Given the description of an element on the screen output the (x, y) to click on. 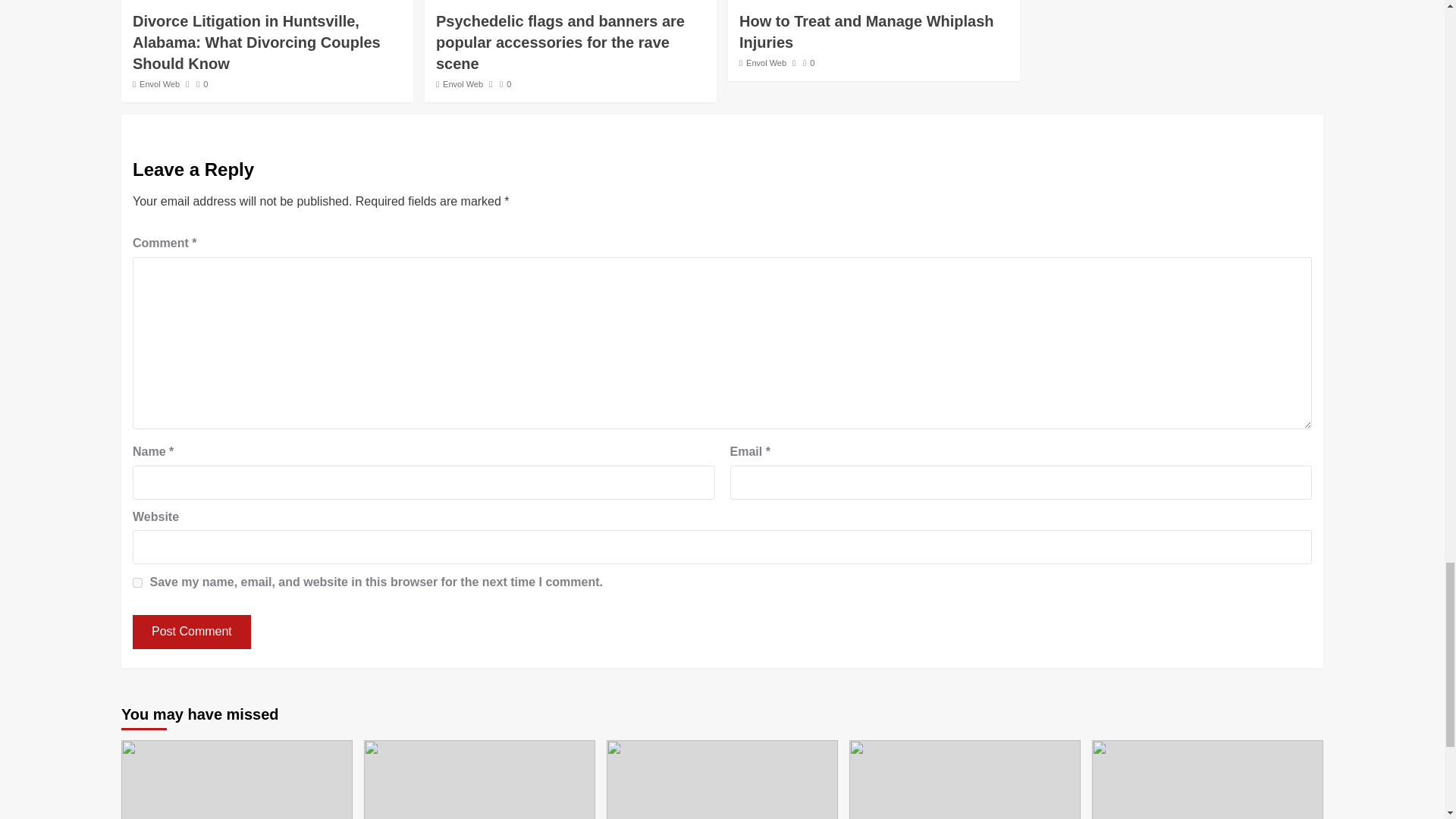
Envol Web (159, 83)
Post Comment (191, 632)
yes (137, 583)
How to Treat and Manage Whiplash Injuries (866, 31)
0 (505, 83)
Envol Web (462, 83)
0 (202, 83)
